Given the description of an element on the screen output the (x, y) to click on. 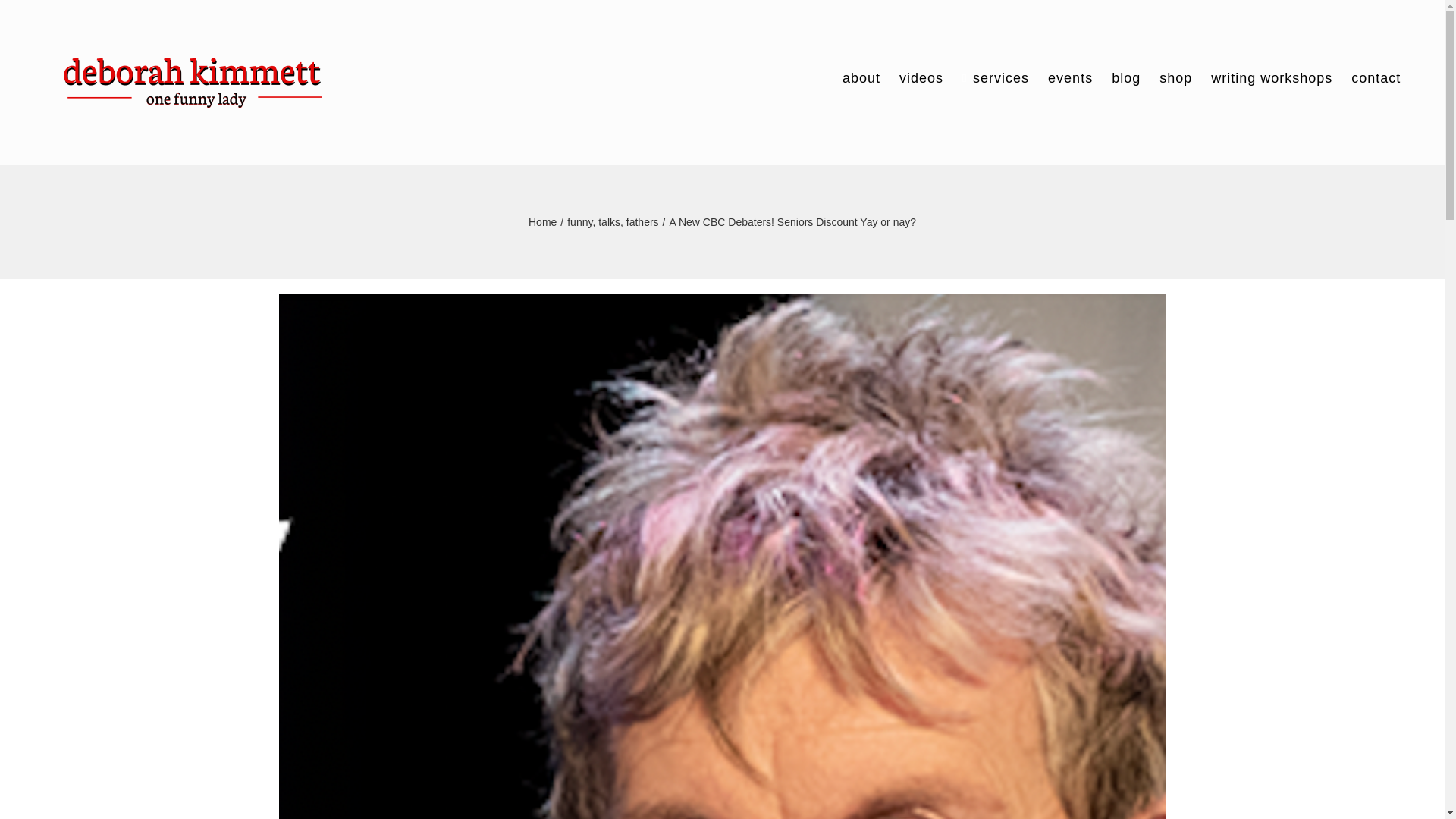
services (995, 77)
funny, talks, fathers (612, 222)
blog (1126, 77)
about (861, 77)
shop (1175, 77)
videos (921, 77)
Home (542, 222)
contact (1375, 77)
events (1070, 77)
writing workshops (1271, 77)
